Given the description of an element on the screen output the (x, y) to click on. 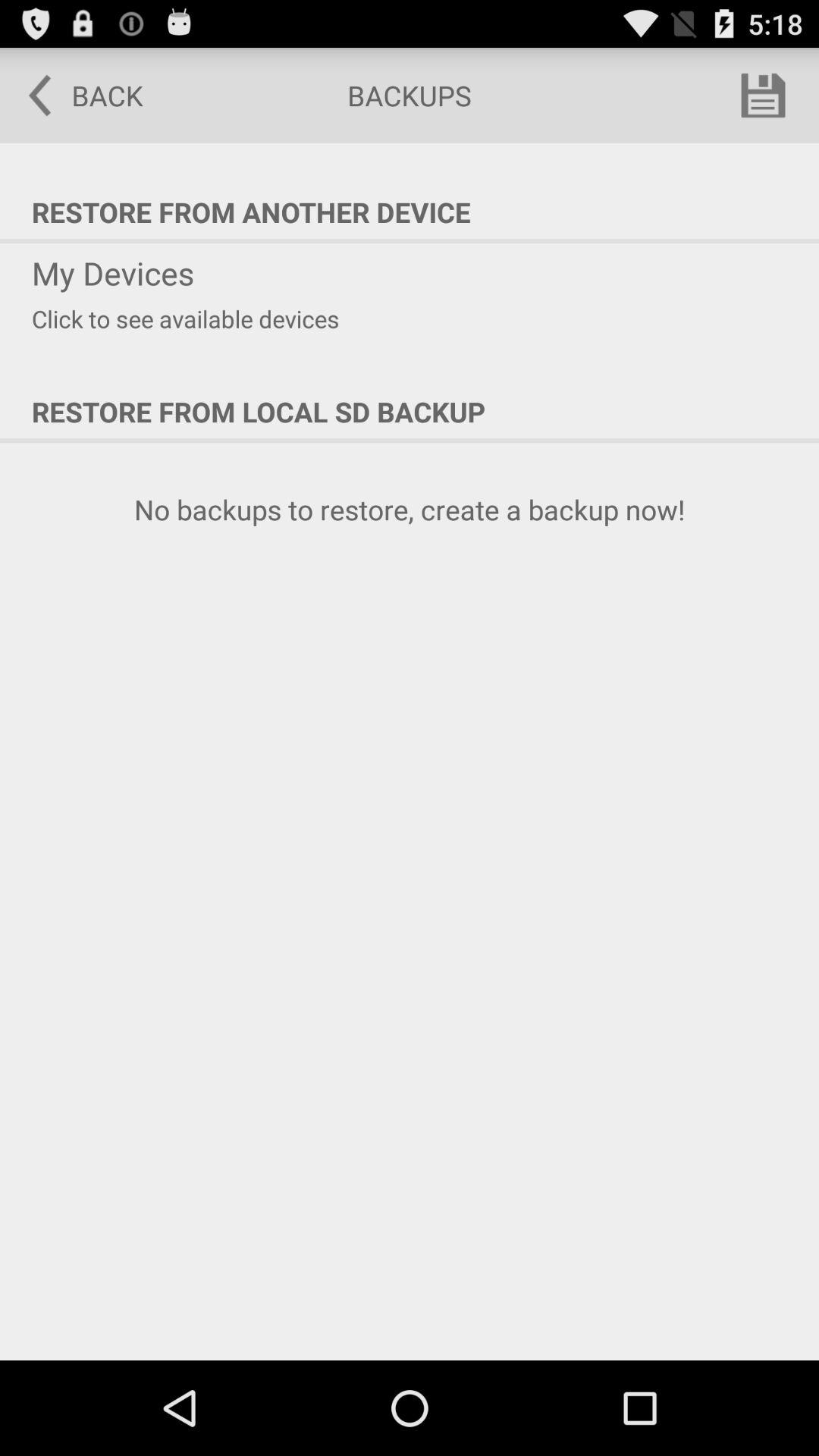
click item to the right of backups icon (763, 95)
